Given the description of an element on the screen output the (x, y) to click on. 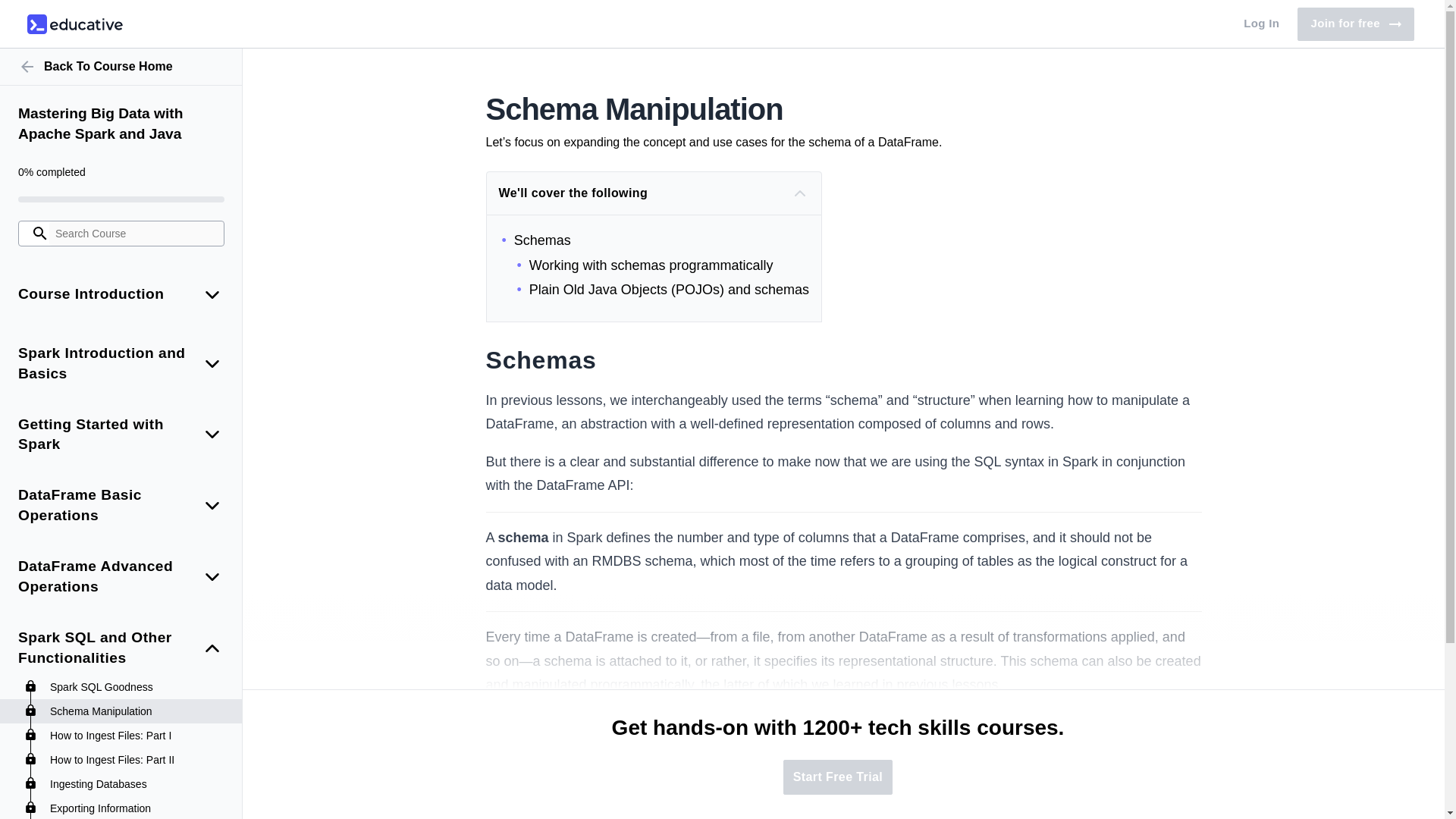
Back To Course Home (121, 66)
Mastering Big Data with Apache Spark and Java (121, 124)
educative.io (74, 23)
Log In (1355, 23)
